Given the description of an element on the screen output the (x, y) to click on. 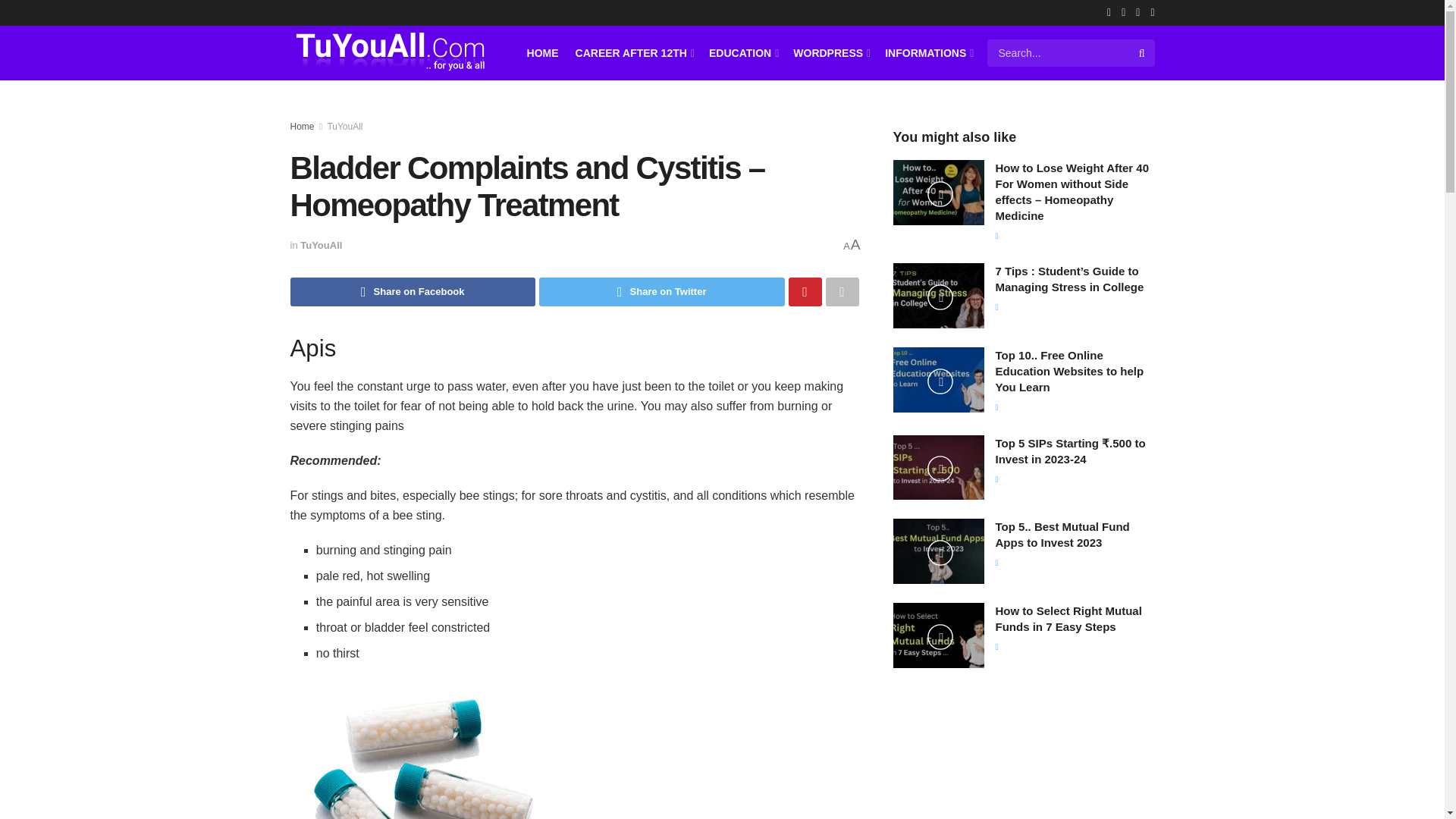
WORDPRESS (830, 52)
EDUCATION (742, 52)
CAREER AFTER 12TH (634, 52)
